Given the description of an element on the screen output the (x, y) to click on. 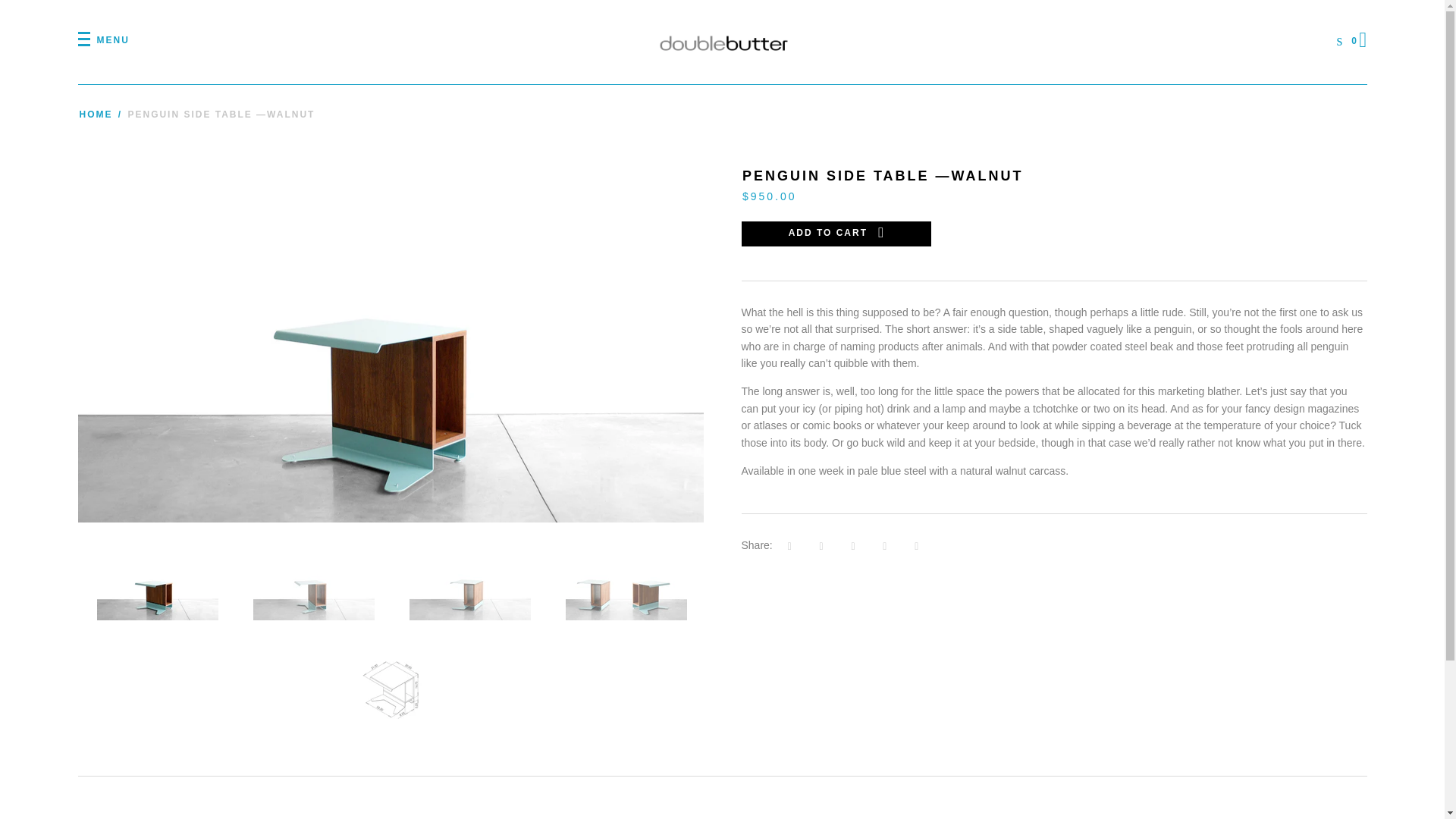
MENU (102, 40)
Back to the frontpage (95, 114)
ADD TO CART (836, 233)
HOME (95, 114)
